Given the description of an element on the screen output the (x, y) to click on. 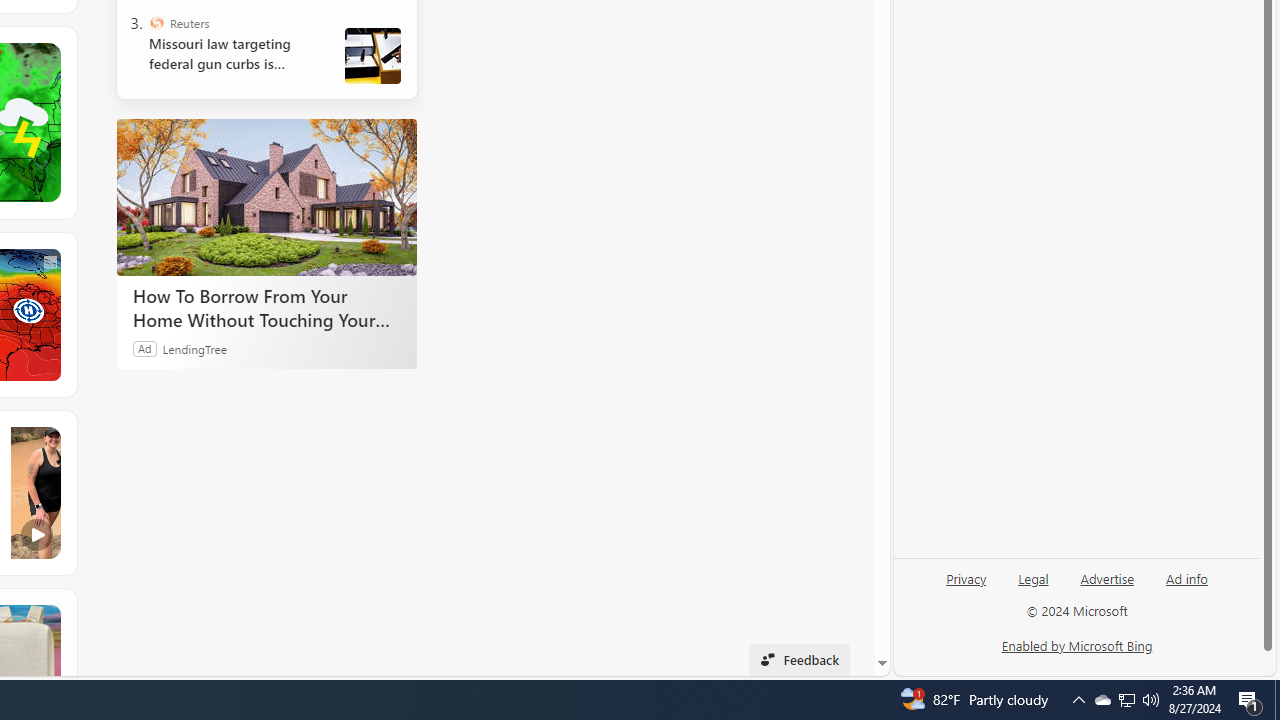
Reuters (156, 22)
